Given the description of an element on the screen output the (x, y) to click on. 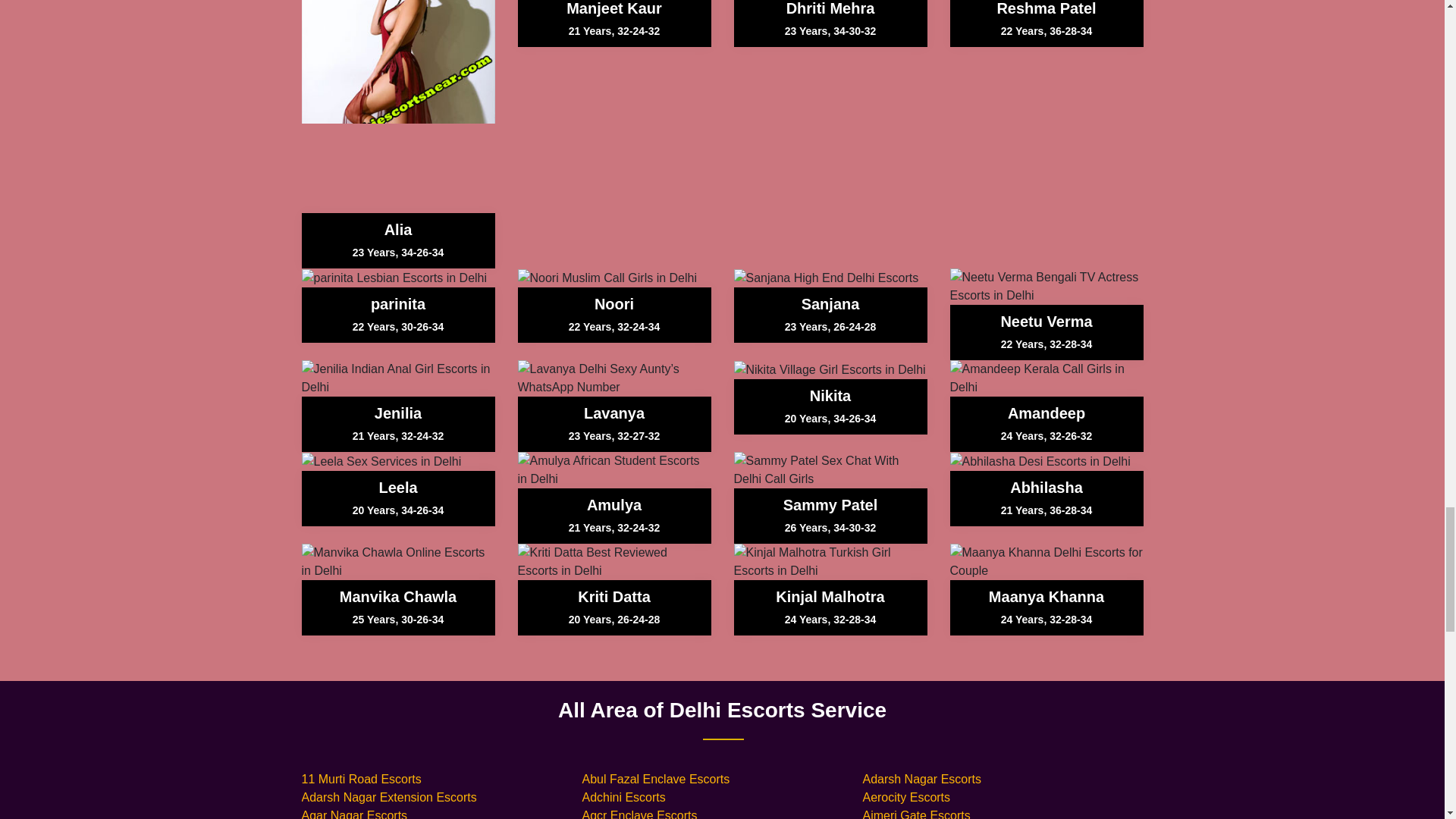
Abul Fazal Enclave Escorts (654, 779)
Agcr Enclave Escorts (638, 814)
11 Murti Road Escorts (361, 779)
Ajmeri Gate Escorts (915, 814)
Agar Nagar Escorts (354, 814)
Adarsh Nagar Escorts (921, 779)
Abul Fazal Enclave Escorts (654, 779)
Aerocity Escorts (905, 797)
Adarsh Nagar Extension Escorts (389, 797)
